Given the description of an element on the screen output the (x, y) to click on. 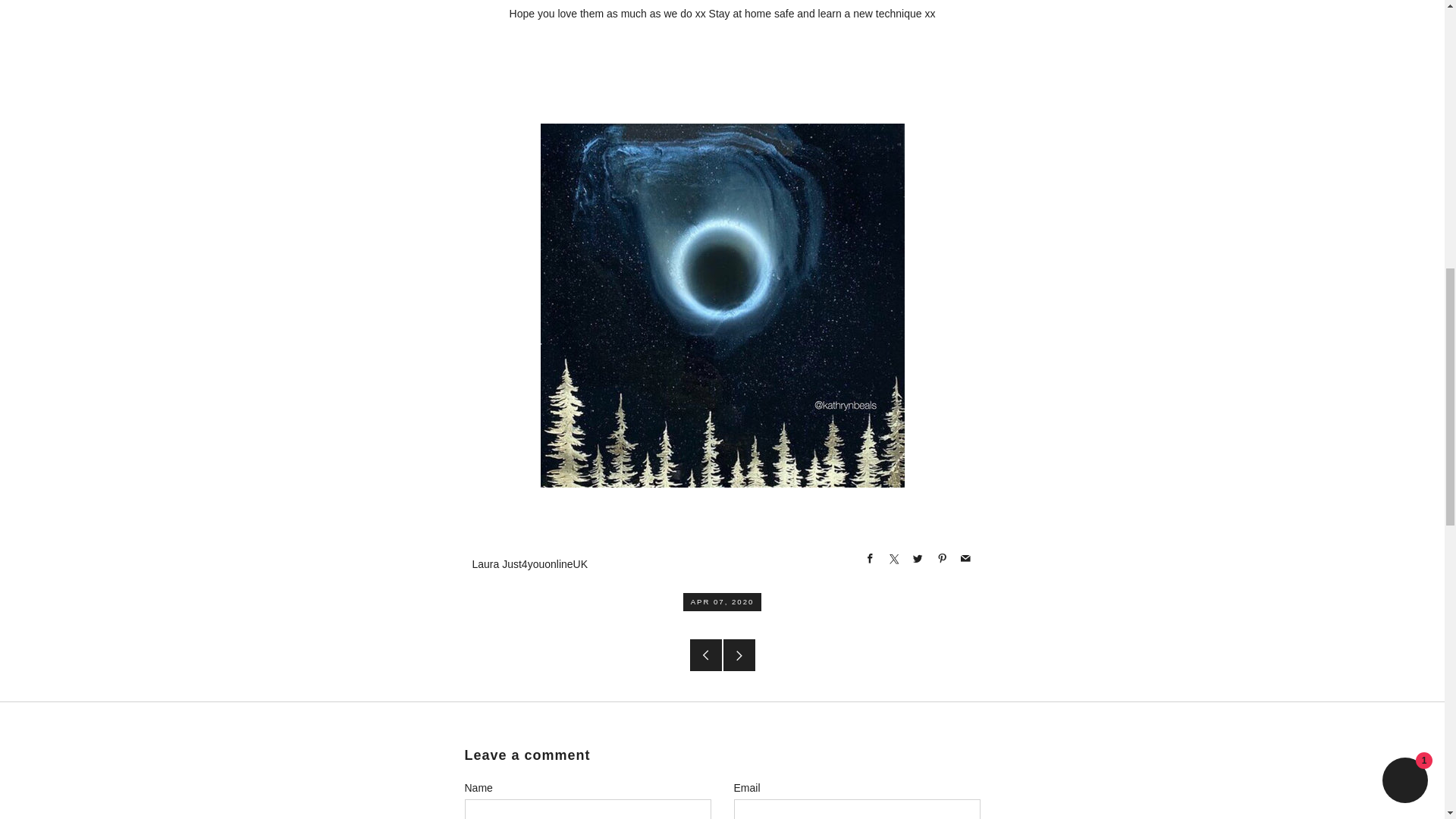
Magnetic Pigments (722, 409)
